Given the description of an element on the screen output the (x, y) to click on. 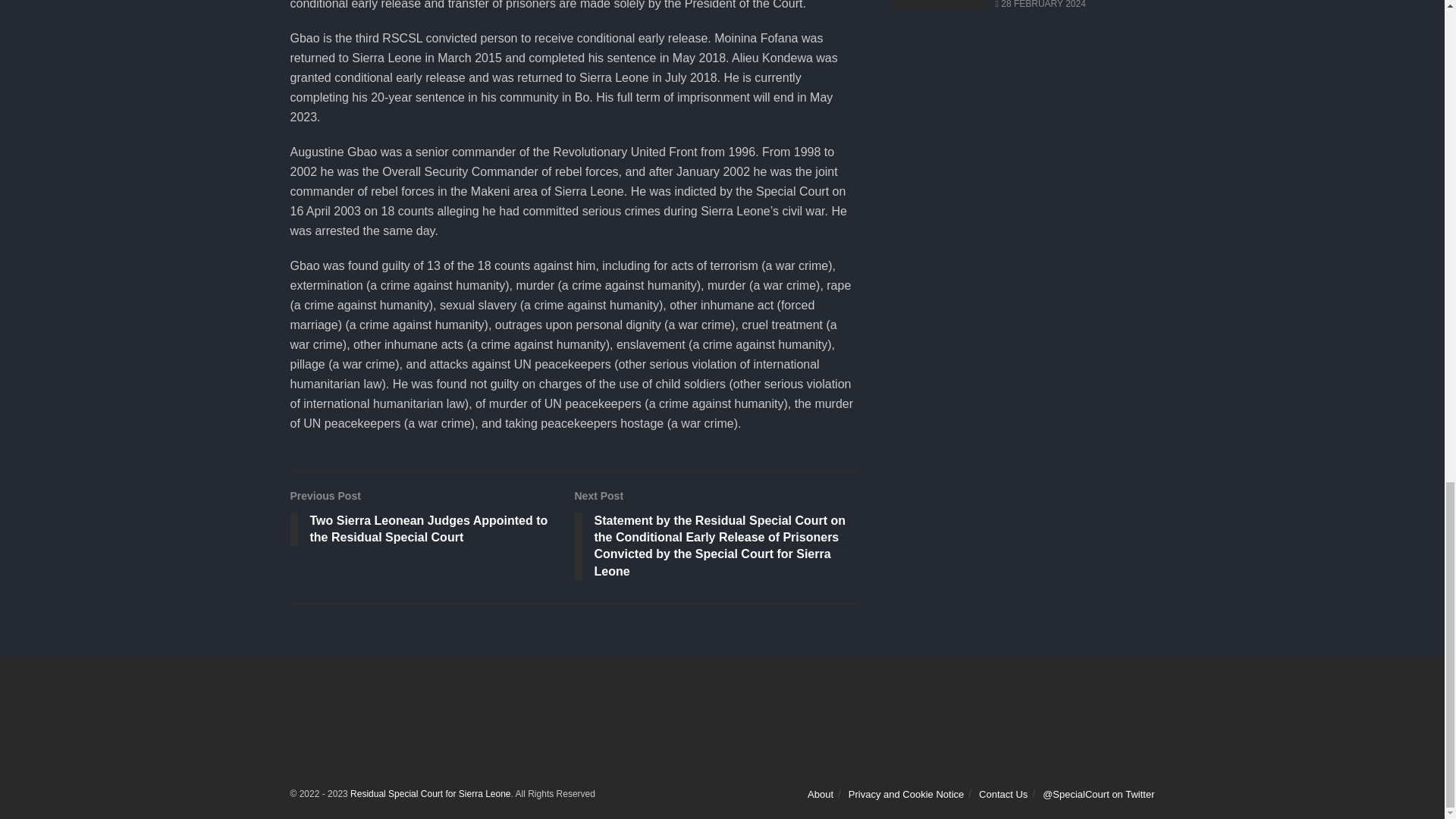
Residual Special Court for Sierra Leone (430, 793)
